Given the description of an element on the screen output the (x, y) to click on. 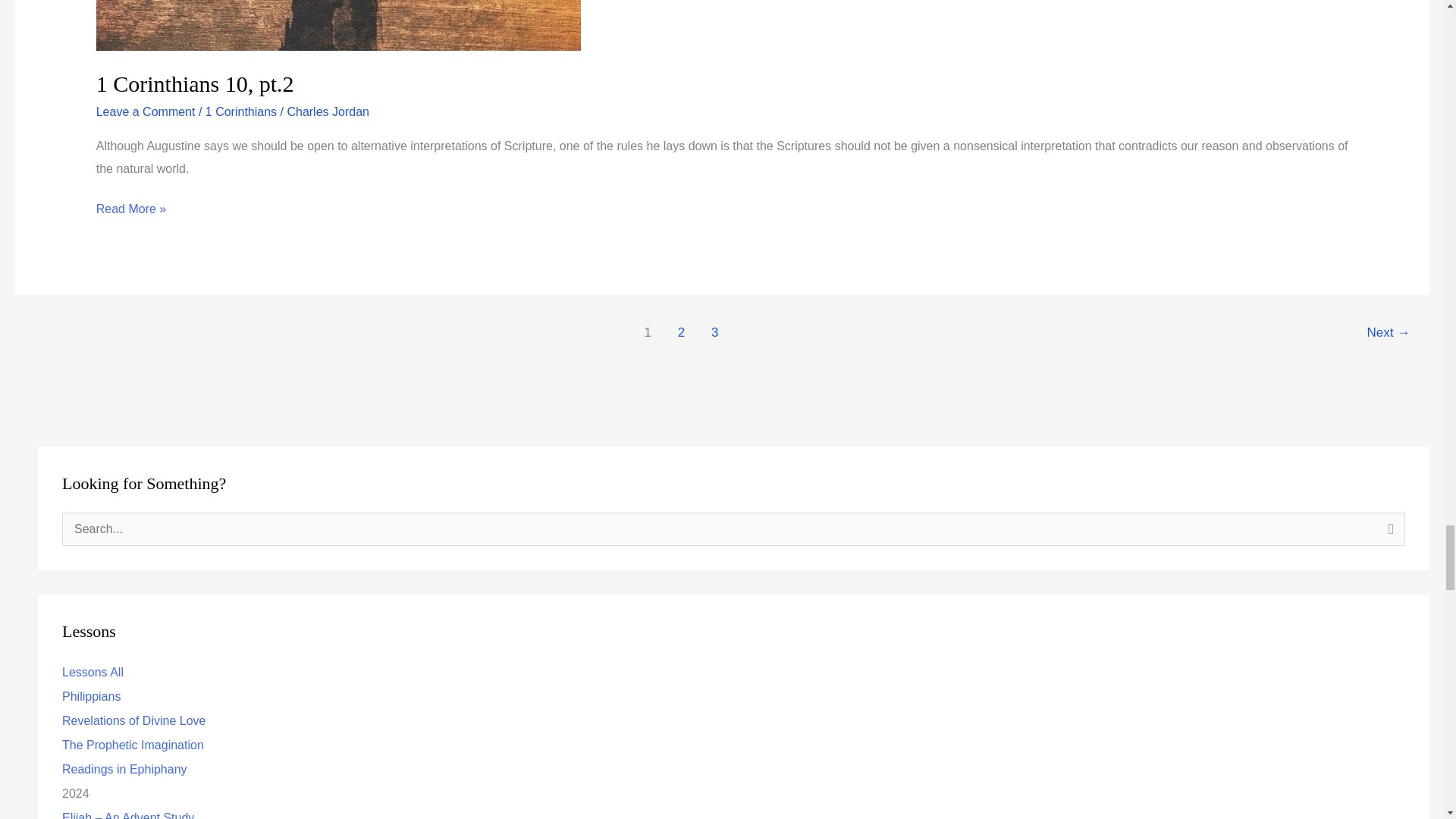
View all posts by Charles Jordan (327, 111)
